Given the description of an element on the screen output the (x, y) to click on. 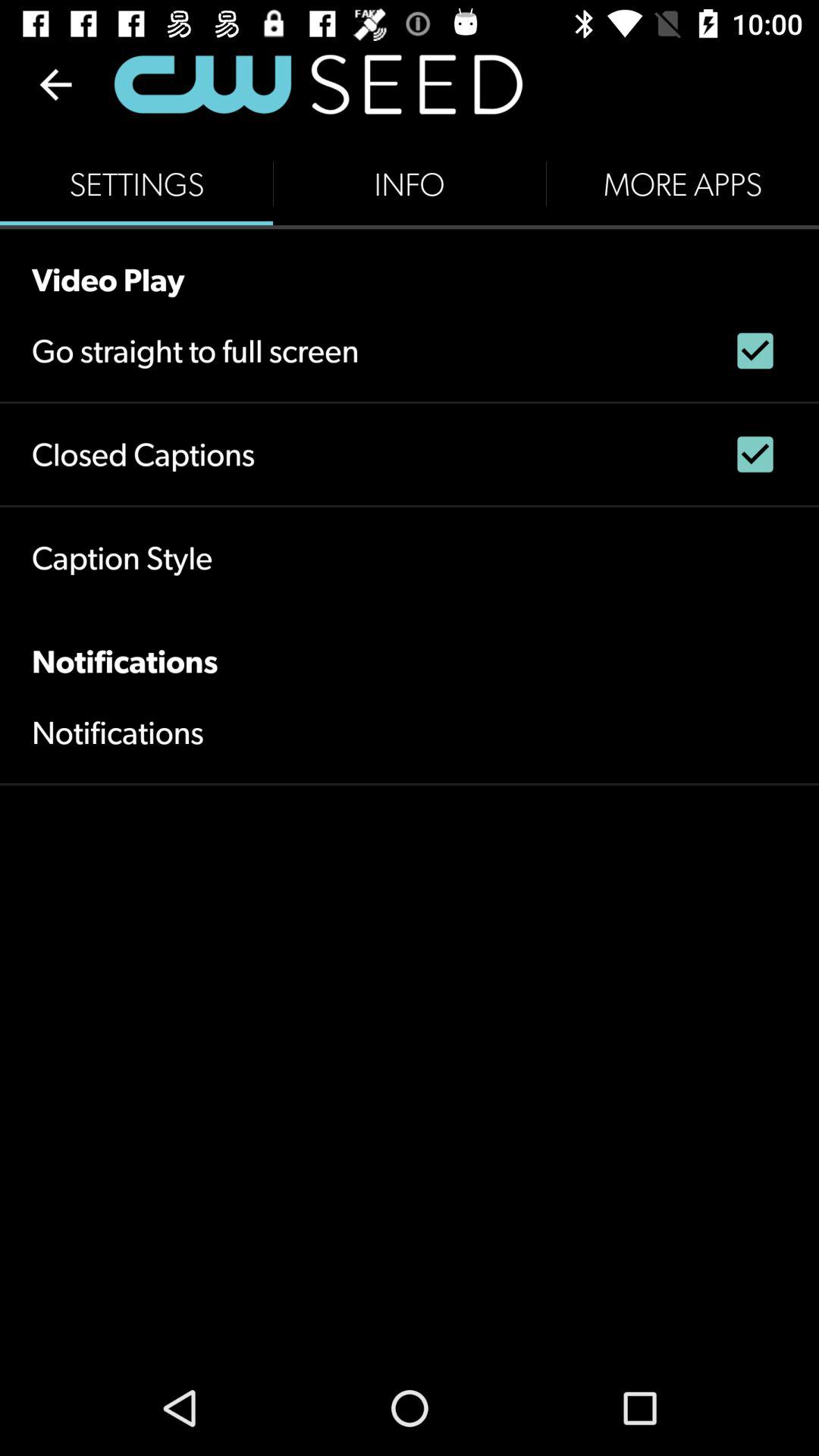
jump until the video play icon (409, 263)
